Given the description of an element on the screen output the (x, y) to click on. 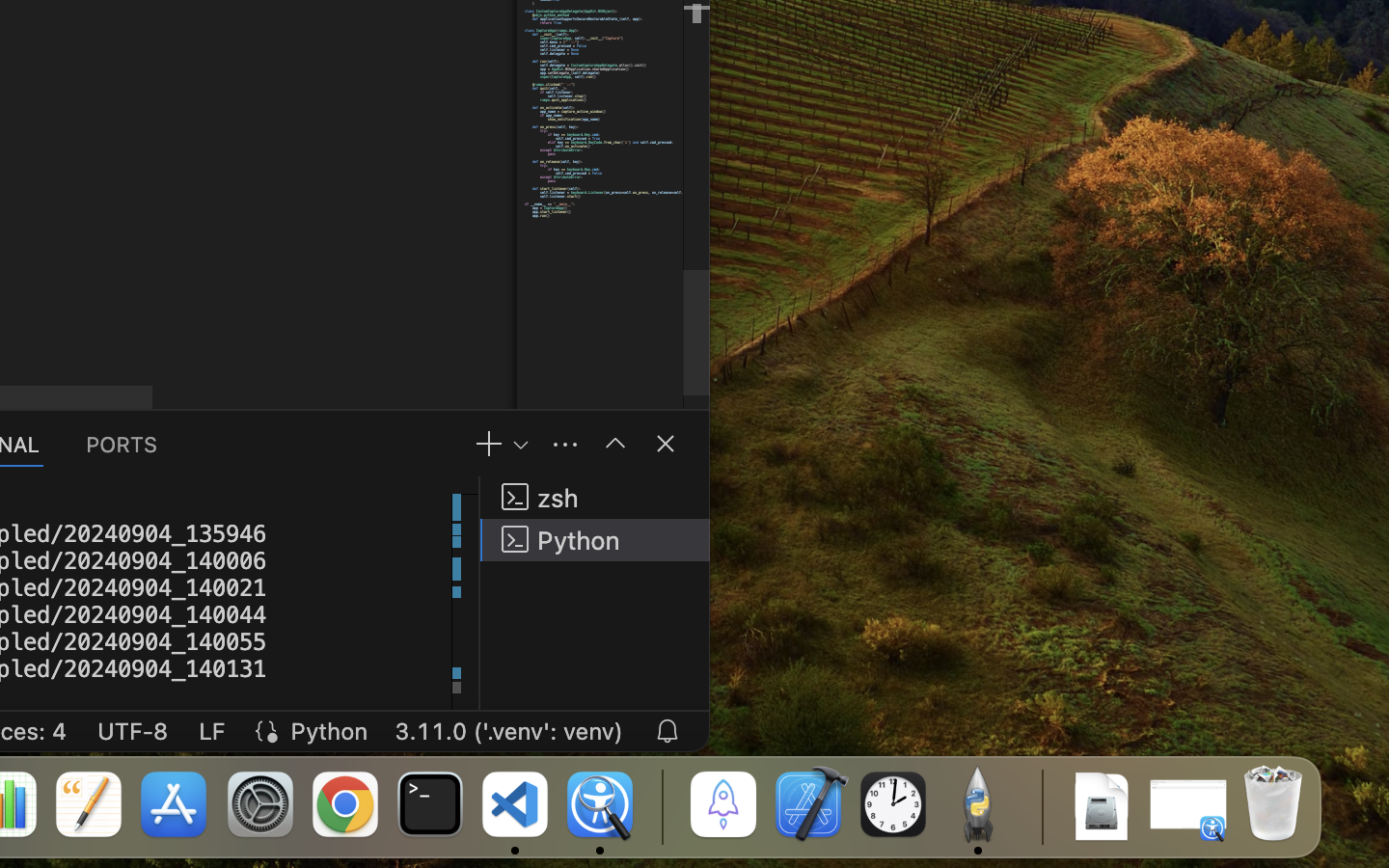
0 PORTS Element type: AXRadioButton (122, 443)
